Given the description of an element on the screen output the (x, y) to click on. 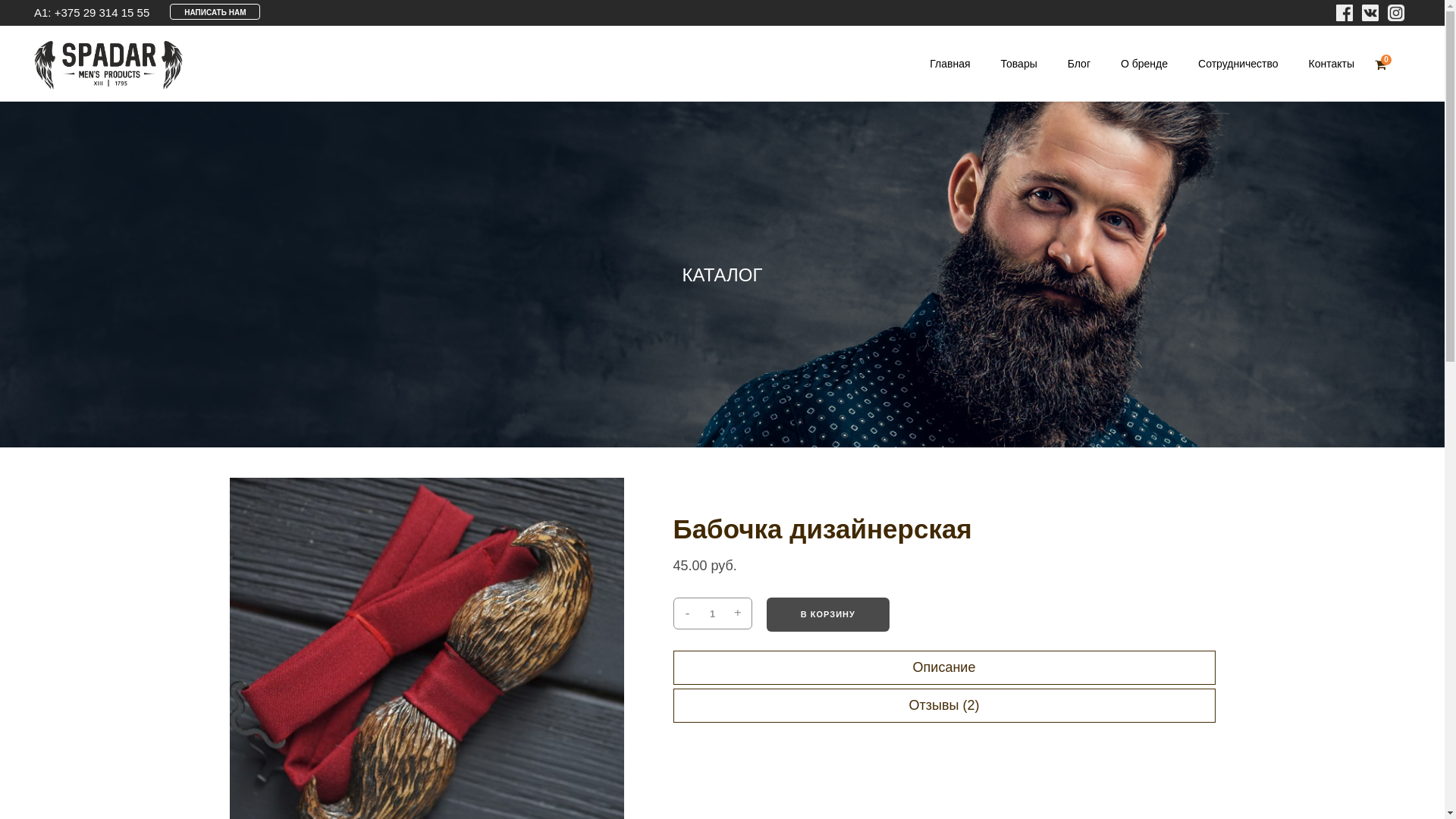
+375 29 314 15 55 Element type: text (102, 12)
0 Element type: text (1380, 64)
Qty Element type: hover (712, 614)
